Given the description of an element on the screen output the (x, y) to click on. 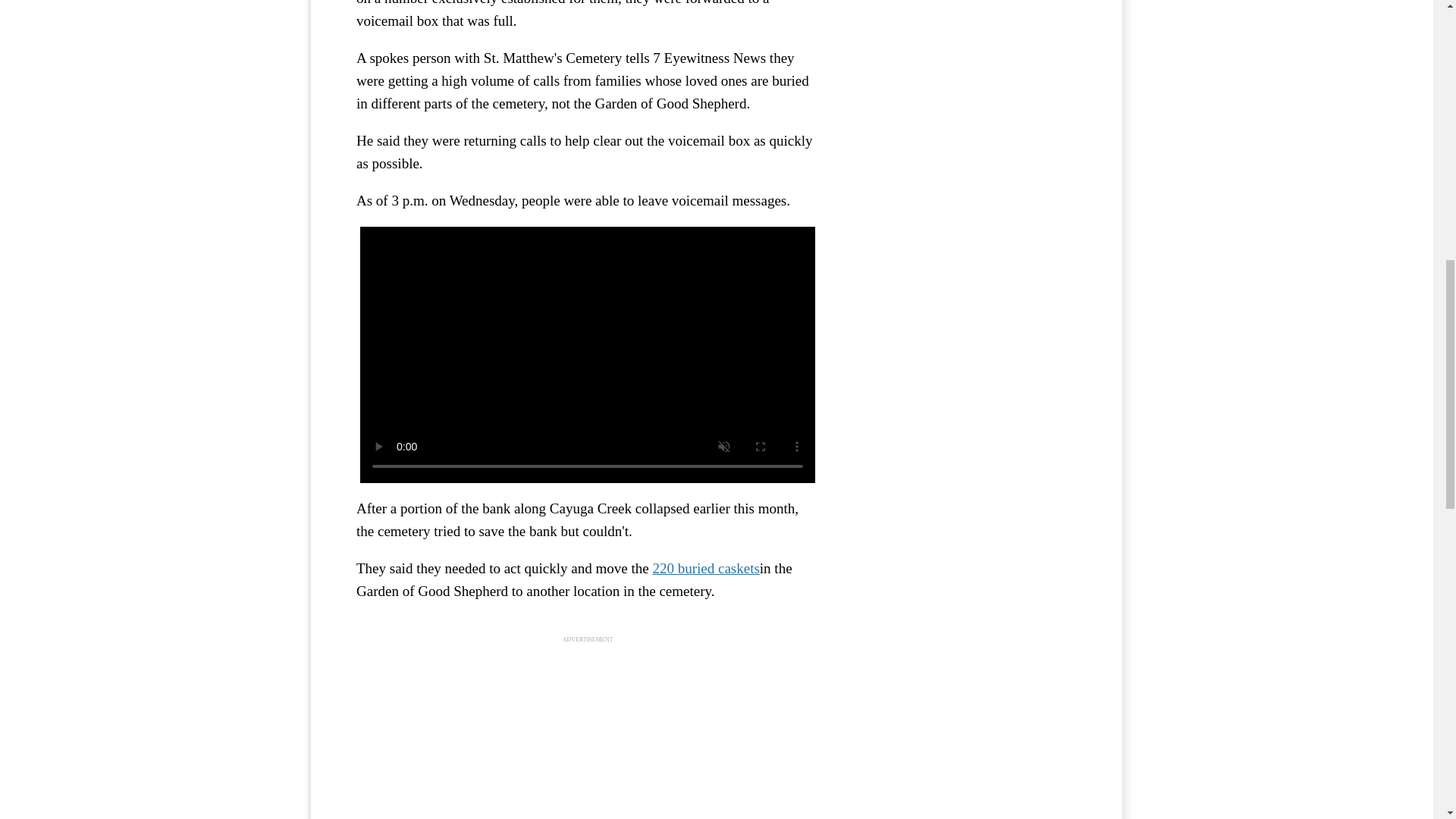
3rd party ad content (587, 737)
